Given the description of an element on the screen output the (x, y) to click on. 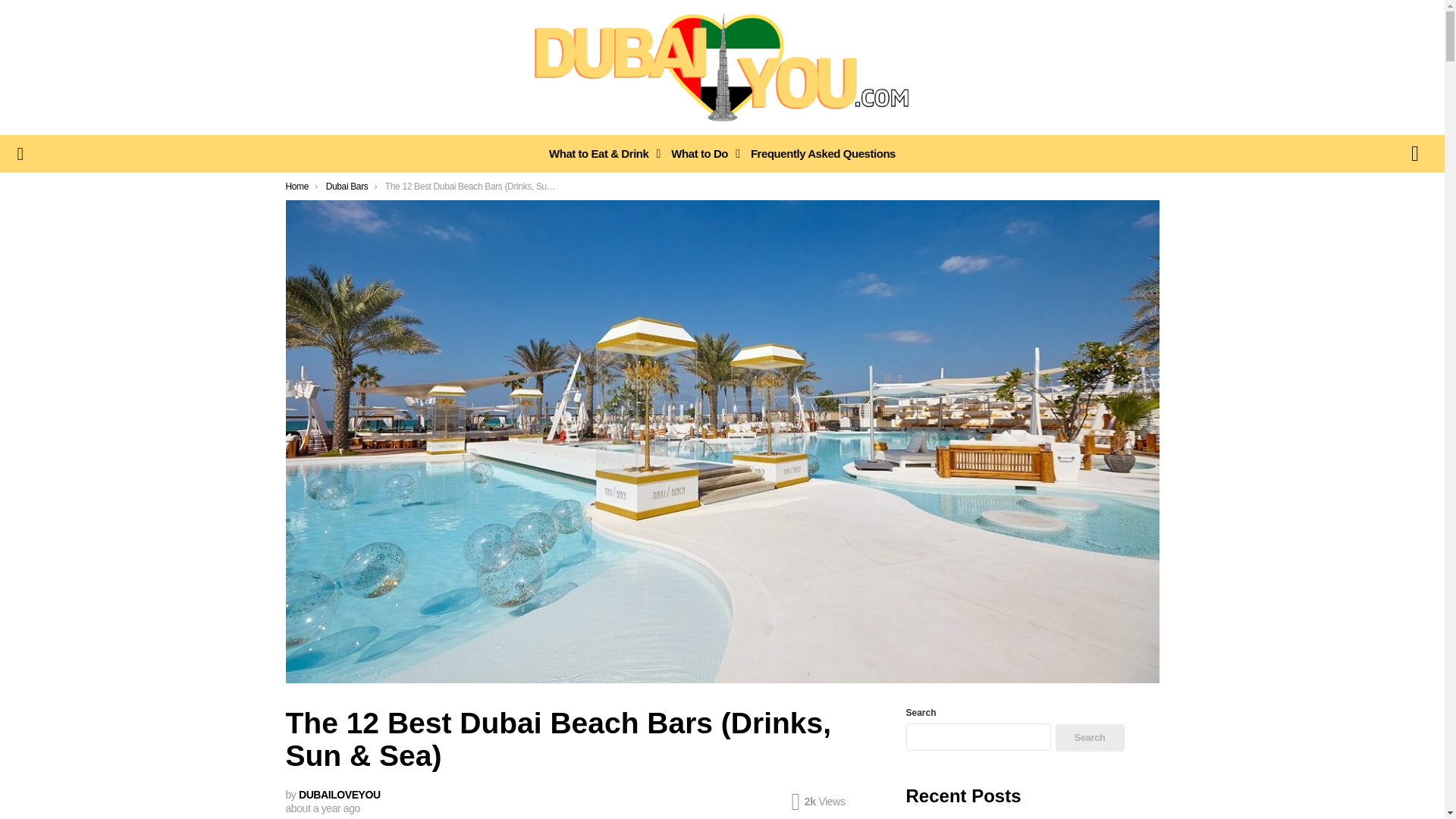
instagram (1414, 153)
What to Do (701, 153)
Posts by DUBAILOVEYOU (339, 794)
Dubai Bars (347, 185)
DUBAILOVEYOU (339, 794)
Frequently Asked Questions (822, 153)
Home (296, 185)
May 8, 2023, 2:12 pm (322, 807)
